Given the description of an element on the screen output the (x, y) to click on. 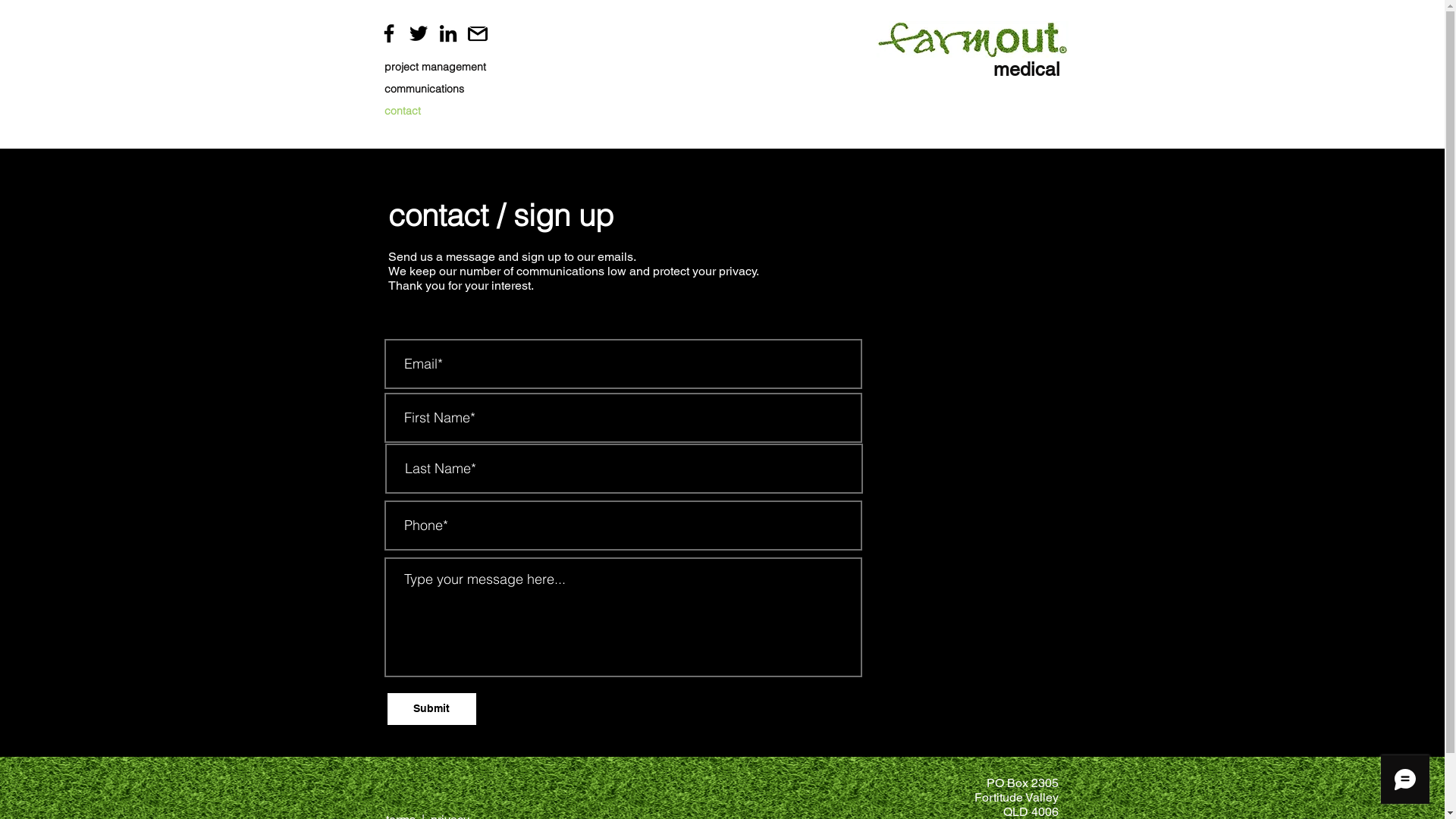
project management Element type: text (439, 67)
farmout_RGB260907.jpg Element type: hover (972, 39)
contact Element type: text (439, 111)
Submit Element type: text (430, 708)
communications Element type: text (439, 89)
